Given the description of an element on the screen output the (x, y) to click on. 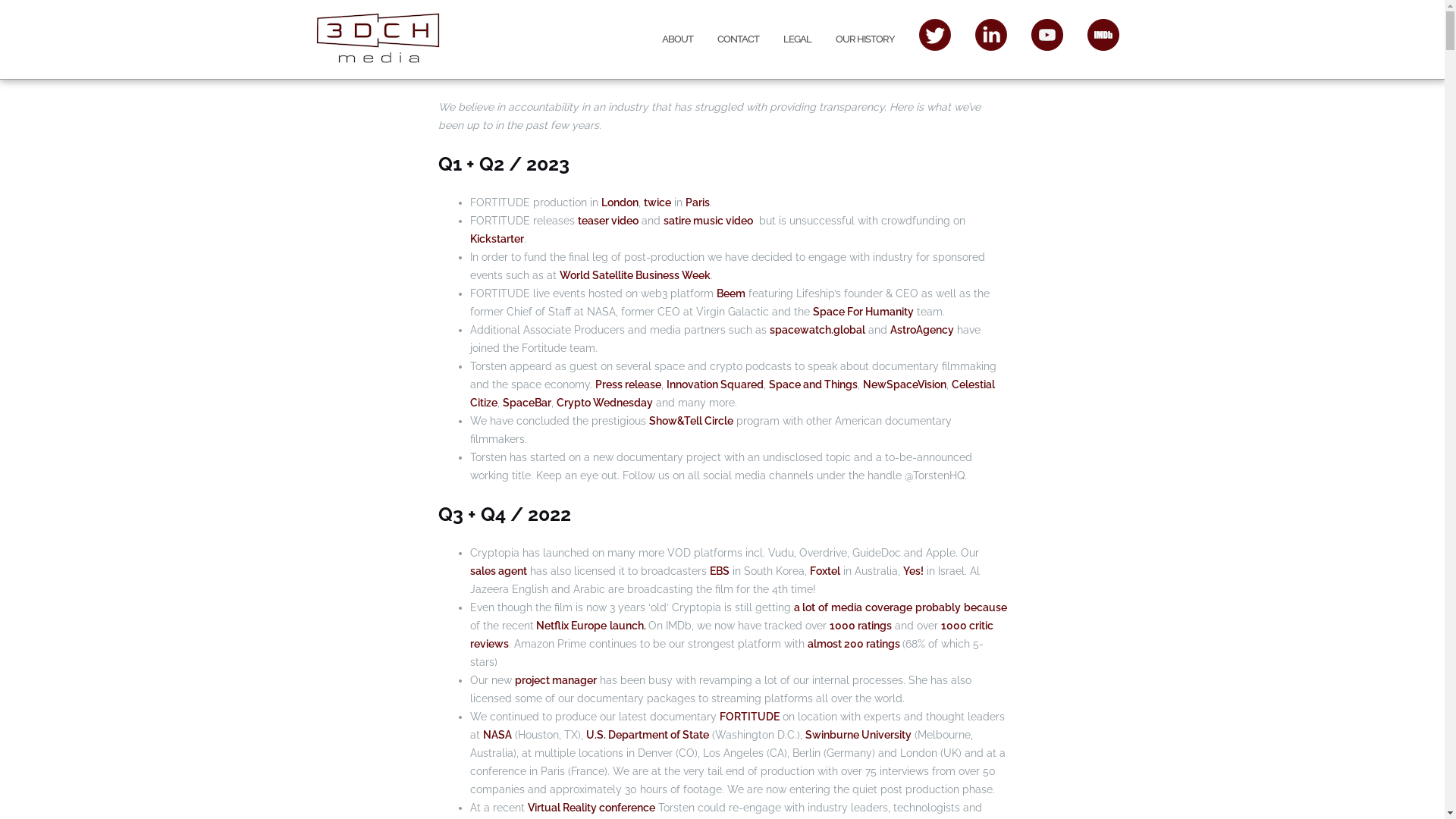
NASA Element type: text (496, 734)
Press release Element type: text (627, 384)
ABOUT Element type: text (676, 38)
Space and Things Element type: text (812, 384)
of Element type: text (822, 607)
AstroAgency Element type: text (921, 329)
coverage Element type: text (887, 607)
Yes! Element type: text (912, 570)
FORTITUDE Element type: text (748, 716)
Crypto Wednesday Element type: text (604, 402)
Innovation Squared Element type: text (713, 384)
Show&Tell Circle Element type: text (691, 420)
Humanity Element type: text (888, 311)
project manager Element type: text (555, 680)
IMDB Element type: text (1103, 34)
TWITTER Element type: text (934, 34)
a lot Element type: text (803, 607)
teaser video Element type: text (607, 220)
because Element type: text (984, 607)
 Netflix Europe Element type: text (569, 625)
spacewatch.global Element type: text (816, 329)
EBS Element type: text (719, 570)
Beem Element type: text (729, 293)
London Element type: text (618, 202)
1000 critic reviews Element type: text (731, 634)
CONTACT Element type: text (738, 38)
LEGAL Element type: text (796, 38)
launch.  Element type: text (628, 625)
sales agent Element type: text (498, 570)
World Satellite Element type: text (597, 275)
almost 200 ratings  Element type: text (853, 643)
satire music video Element type: text (707, 220)
YOUTUBE Element type: text (1047, 34)
Kickstarter Element type: text (497, 238)
NewSpaceVision Element type: text (904, 384)
twice Element type: text (656, 202)
Virtual Reality conference Element type: text (591, 807)
SpaceBar Element type: text (526, 402)
Swinburne University Element type: text (858, 734)
1000 ratings Element type: text (860, 625)
LINKEDIN Element type: text (991, 34)
probably Element type: text (937, 607)
Paris Element type: text (697, 202)
U.S. Department of State Element type: text (646, 734)
Celestial Citize Element type: text (732, 393)
Foxtel Element type: text (824, 570)
OUR HISTORY Element type: text (864, 38)
Business Week Element type: text (672, 275)
media Element type: text (846, 607)
Space For Element type: text (838, 311)
